Given the description of an element on the screen output the (x, y) to click on. 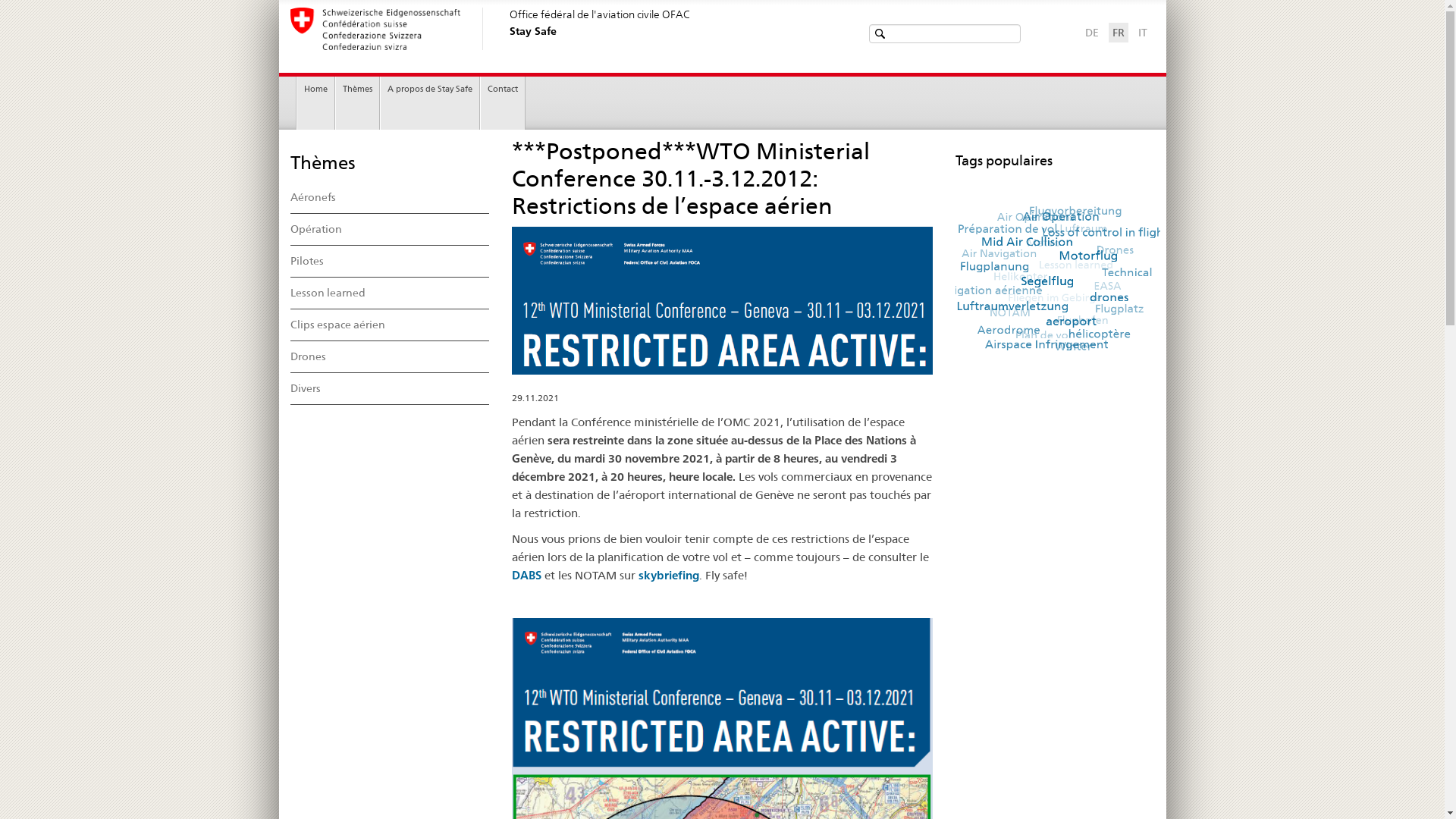
DE Element type: text (1091, 32)
skybriefing Element type: text (668, 574)
Home Element type: text (315, 102)
DABS Element type: text (526, 574)
A propos de Stay Safe Element type: text (429, 102)
Lesson learned Element type: text (389, 293)
Divers Element type: text (389, 388)
IT Element type: text (1141, 32)
Pilotes Element type: text (389, 261)
FR Element type: text (1117, 32)
Rechercher Element type: text (880, 32)
Drones Element type: text (389, 357)
Contact Element type: text (502, 102)
